Given the description of an element on the screen output the (x, y) to click on. 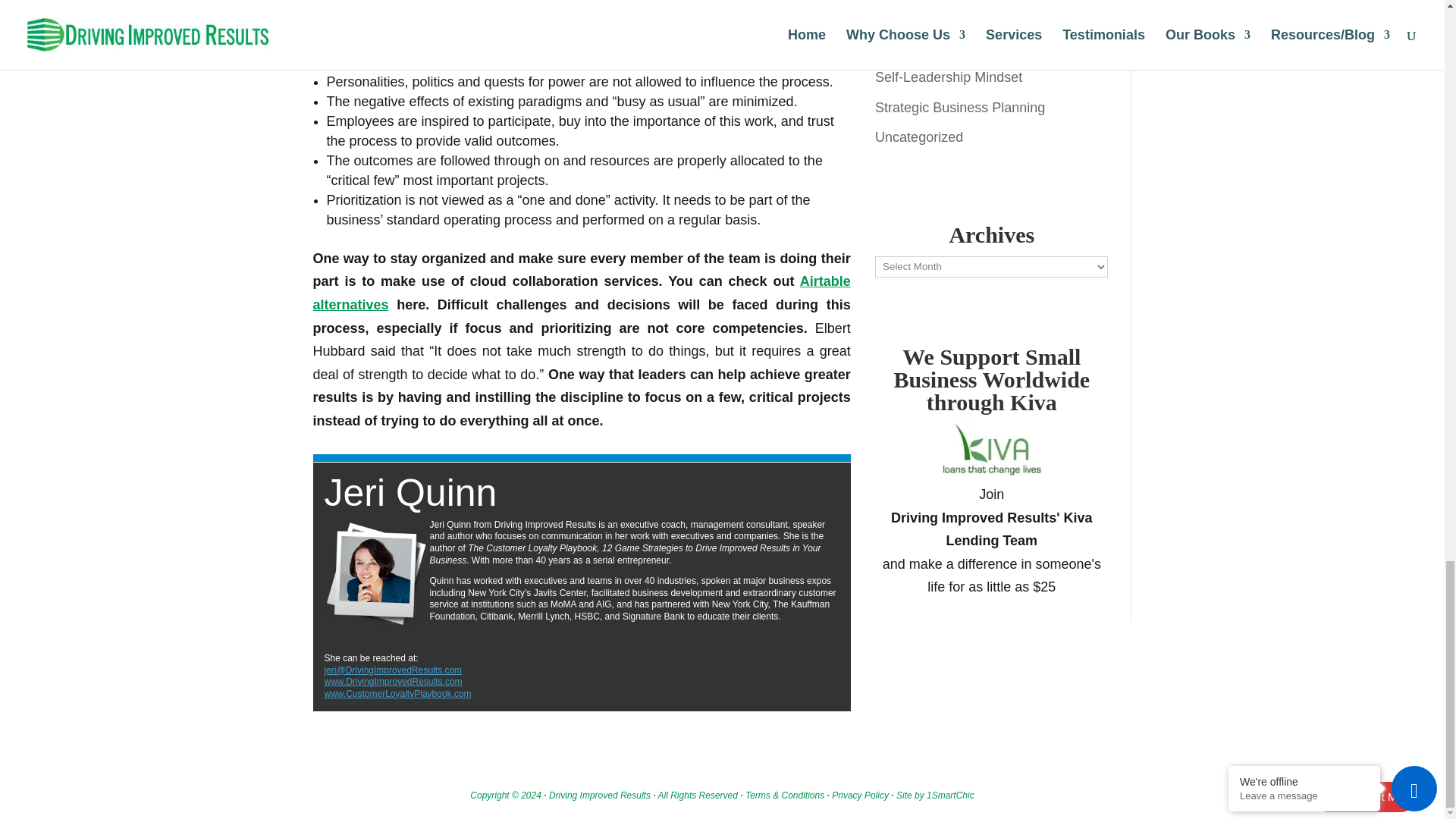
Airtable alternatives (581, 292)
www.CustomerLoyaltyPlaybook.com (397, 693)
www.DrivingImprovedResults.com (393, 681)
